Given the description of an element on the screen output the (x, y) to click on. 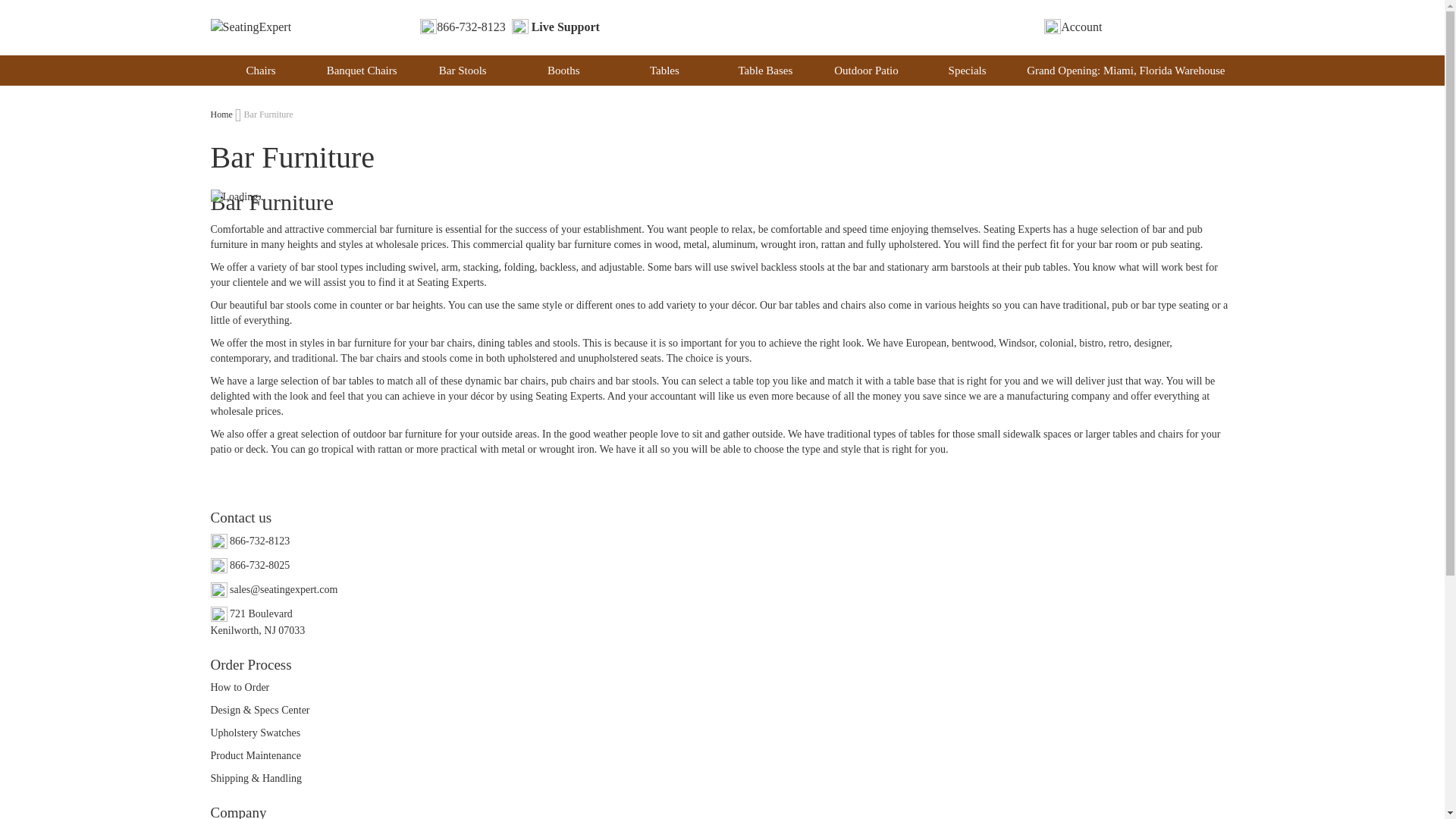
Booths (563, 70)
Go to Home Page (221, 113)
Product Maintenance (256, 755)
Outdoor Patio (866, 70)
866-732-8123 (462, 26)
Account (1072, 26)
SeatingExpert (251, 26)
866-732-8123 (250, 541)
Chairs (261, 70)
Tables (664, 70)
